Given the description of an element on the screen output the (x, y) to click on. 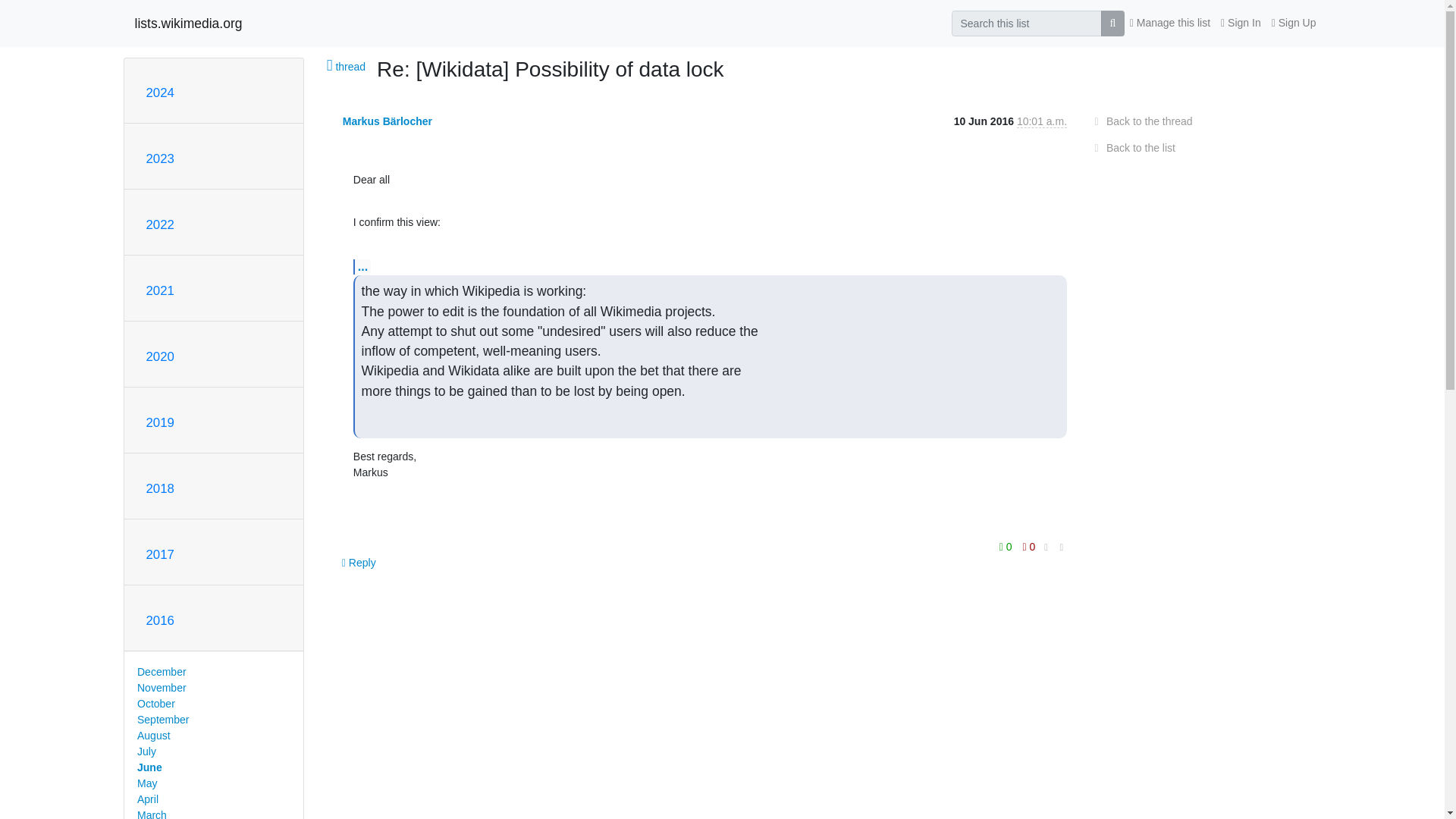
Sign in to reply online (359, 562)
You must be logged-in to vote. (1029, 546)
Sign Up (1294, 22)
You must be logged-in to vote. (1007, 546)
2023 (159, 158)
Sender's time: June 10, 2016, 12:01 p.m. (1041, 121)
2022 (159, 224)
Manage this list (1169, 22)
2024 (159, 92)
Sign In (1240, 22)
lists.wikimedia.org (189, 22)
